Given the description of an element on the screen output the (x, y) to click on. 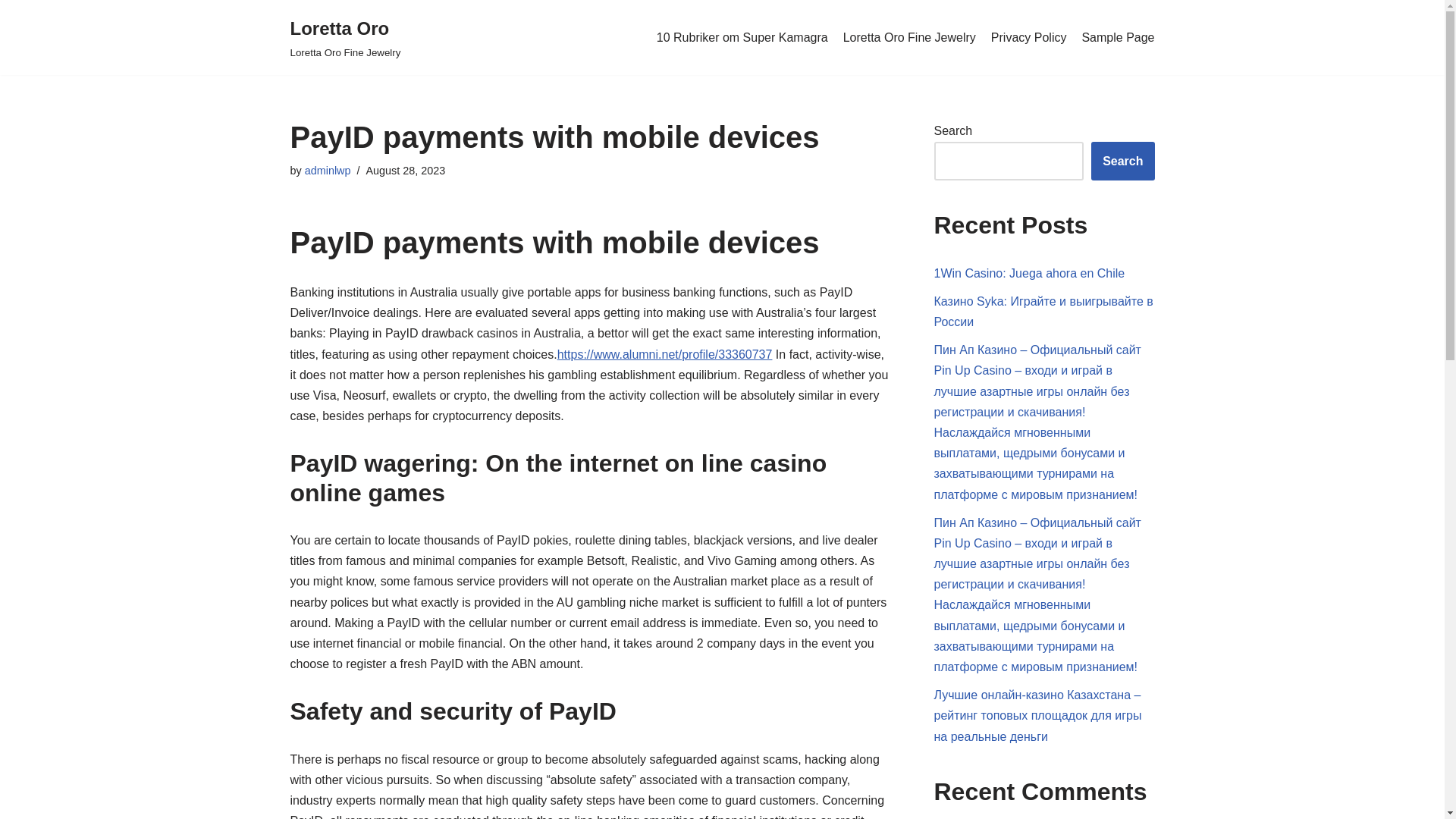
Loretta Oro (344, 37)
Sample Page (344, 37)
10 Rubriker om Super Kamagra (1117, 37)
Posts by adminlwp (742, 37)
Privacy Policy (327, 170)
Loretta Oro Fine Jewelry (1029, 37)
adminlwp (909, 37)
1Win Casino: Juega ahora en Chile (327, 170)
Search (1029, 273)
